Given the description of an element on the screen output the (x, y) to click on. 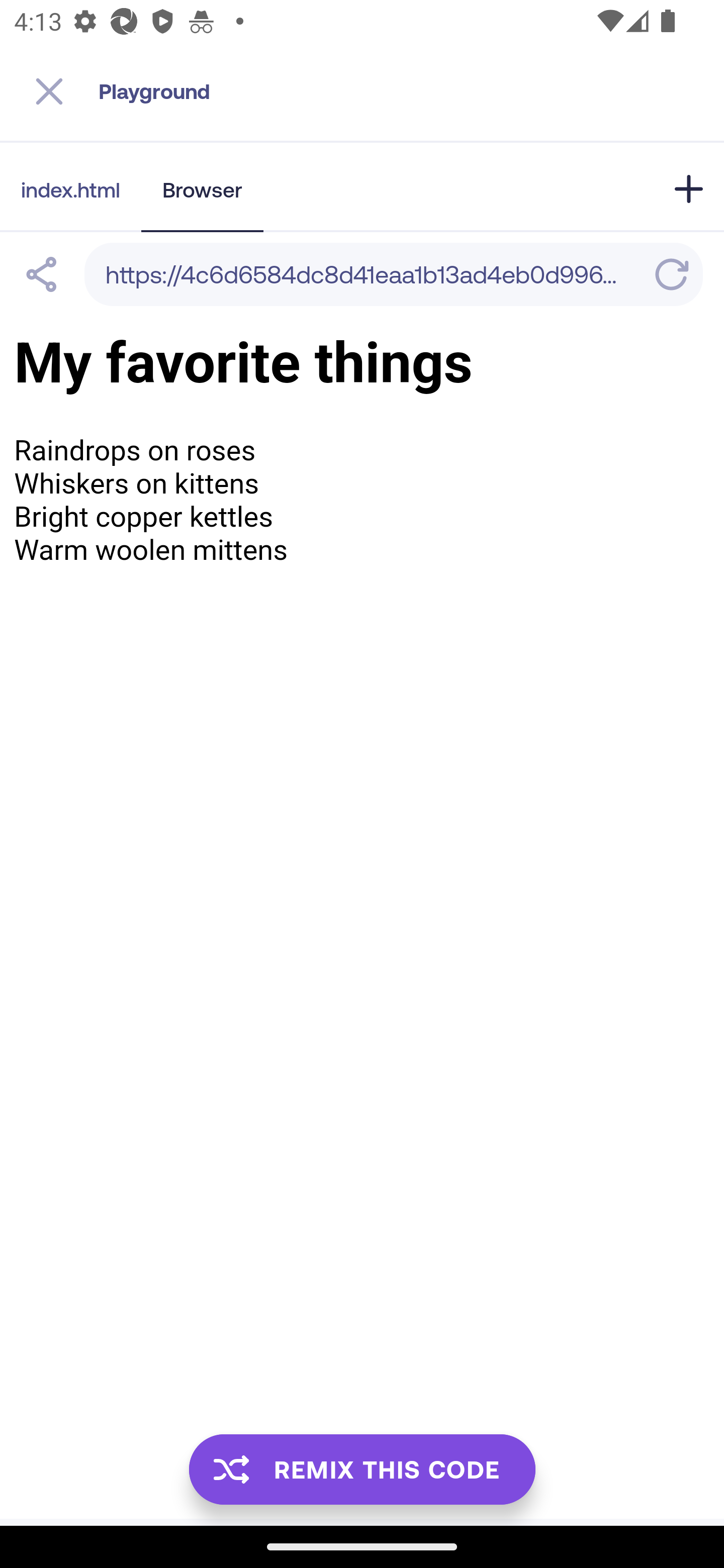
Navigate up (49, 91)
Playground (411, 91)
index.html (70, 189)
REMIX THIS CODE (361, 1469)
